Given the description of an element on the screen output the (x, y) to click on. 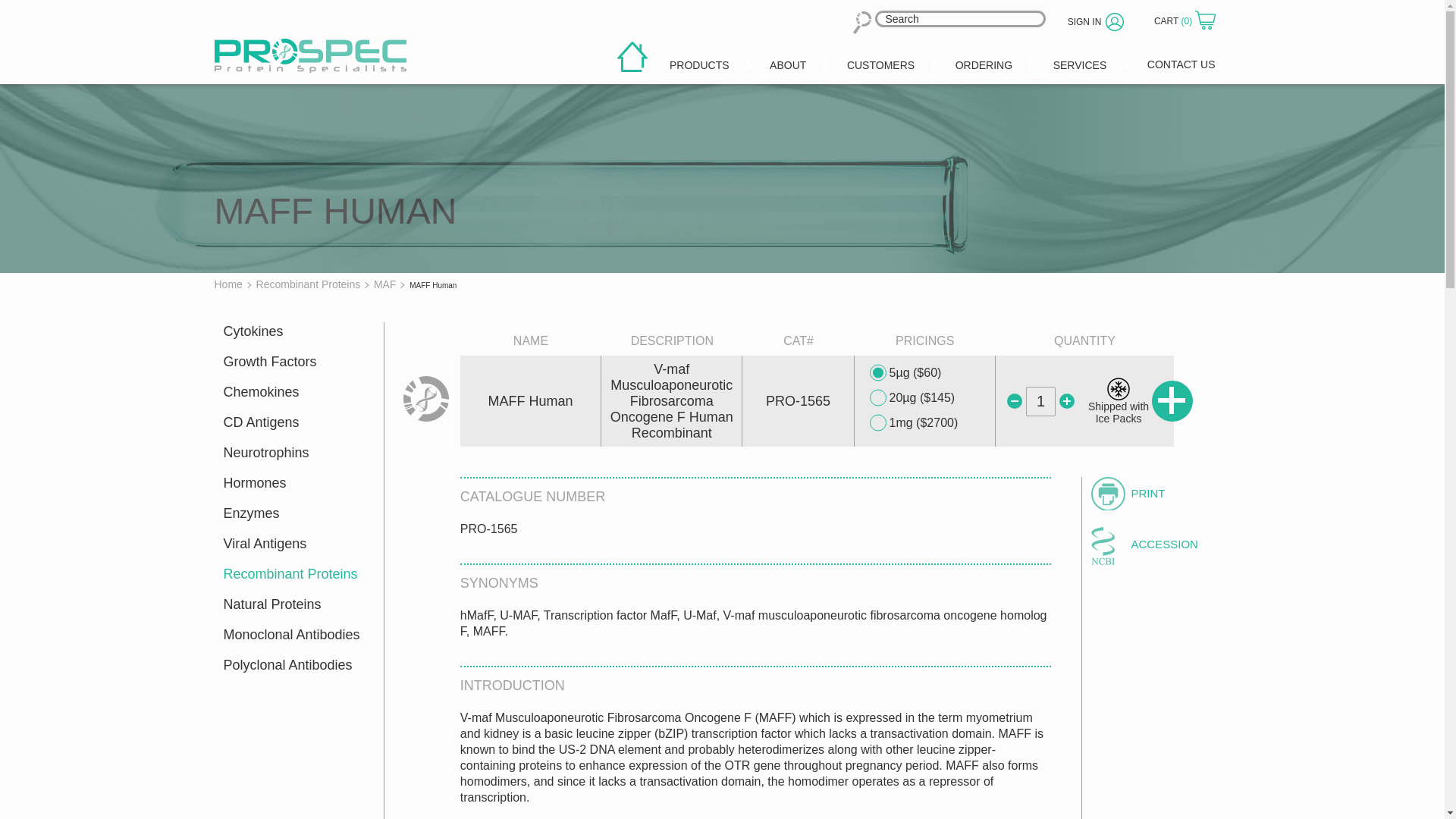
PRODUCTS (700, 62)
SERVICES (1080, 62)
CUSTOMERS (881, 62)
ABOUT (788, 62)
home (632, 56)
ORDERING (983, 62)
prospec (310, 55)
1 (1040, 401)
